Given the description of an element on the screen output the (x, y) to click on. 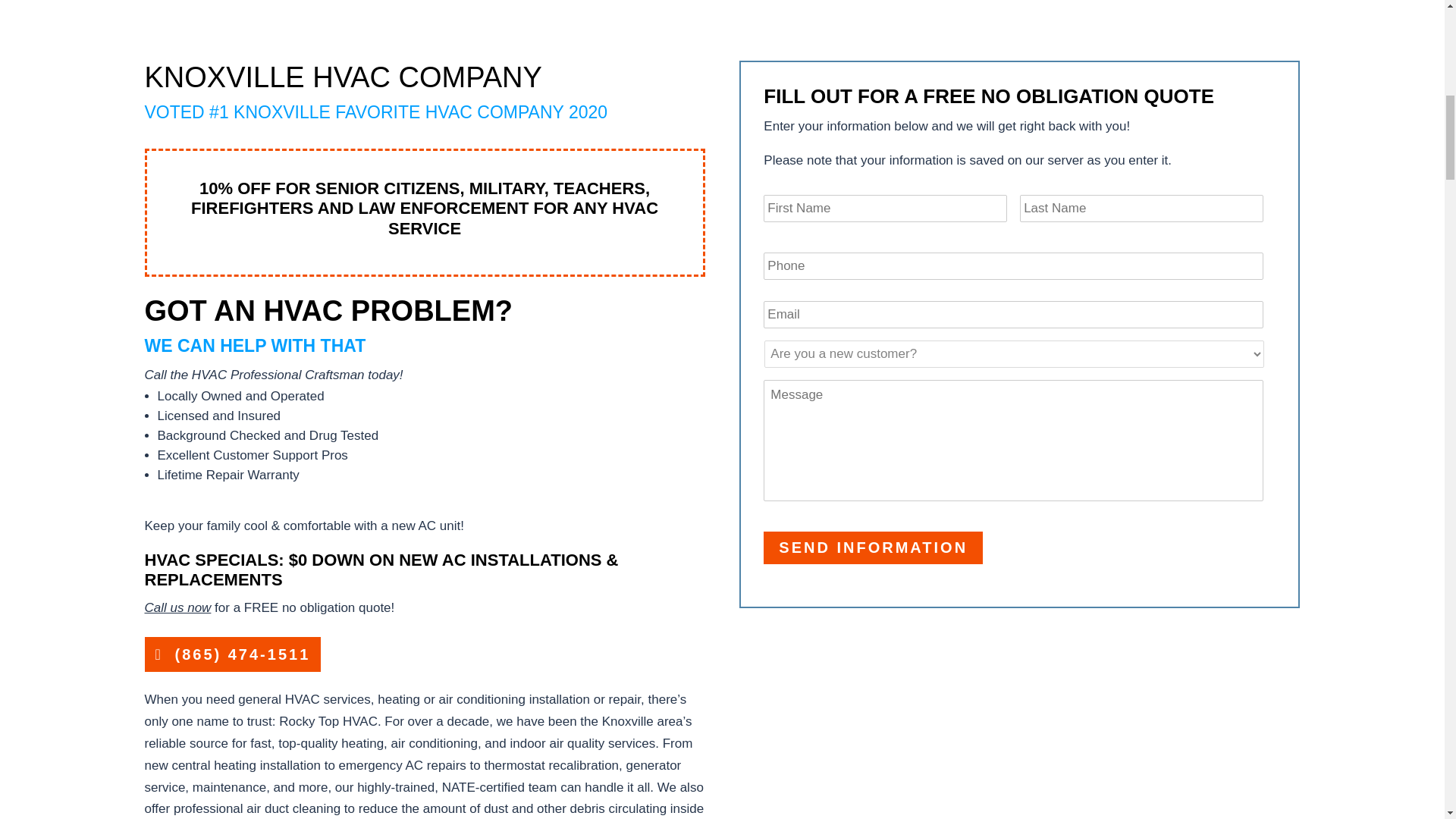
SEND INFORMATION (872, 547)
